Given the description of an element on the screen output the (x, y) to click on. 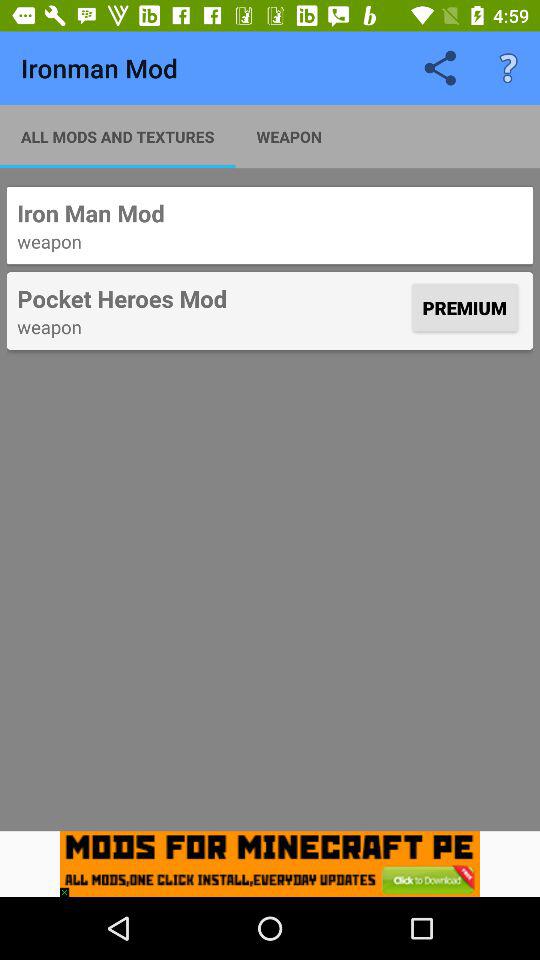
launch the premium (464, 307)
